Given the description of an element on the screen output the (x, y) to click on. 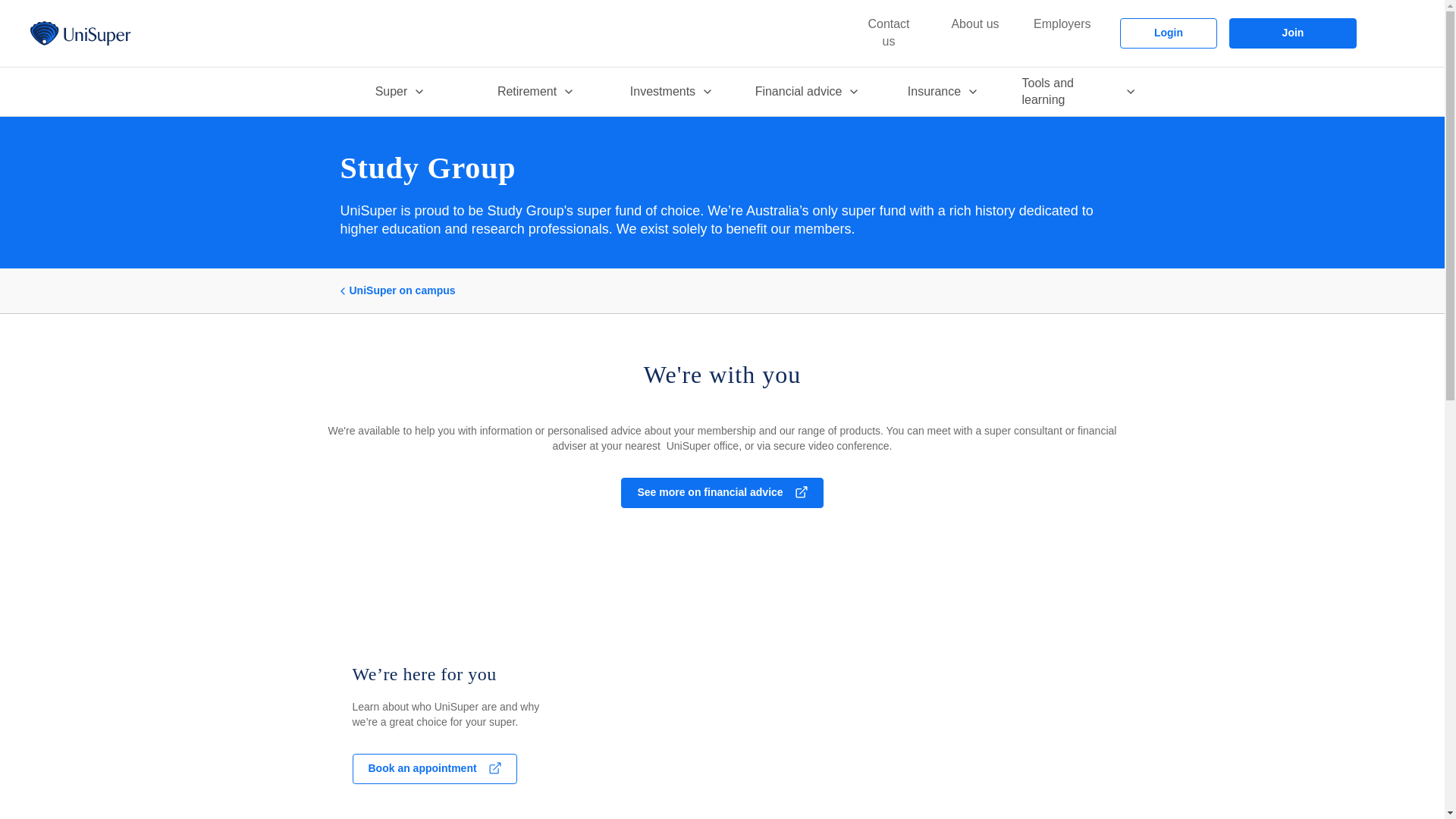
Employers (1061, 24)
UniSuper logo (80, 33)
Super (398, 91)
Retirement (535, 91)
Super (398, 91)
Contact us (888, 32)
Join (1292, 33)
About us (975, 24)
Login (1168, 33)
